Given the description of an element on the screen output the (x, y) to click on. 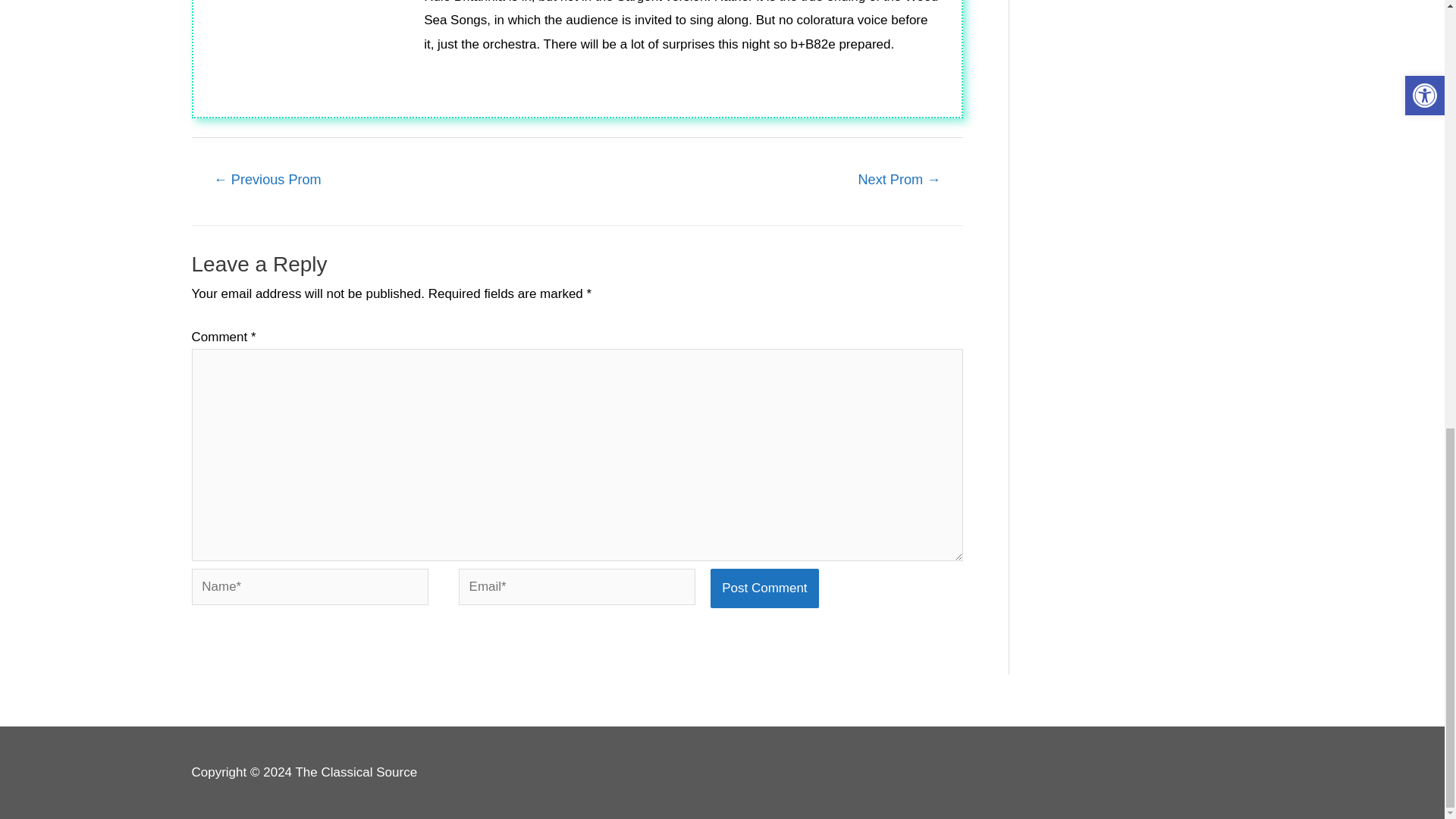
Post Comment (764, 588)
Post Comment (764, 588)
Proms 2002 - A personal introduction by the editor (266, 181)
